Given the description of an element on the screen output the (x, y) to click on. 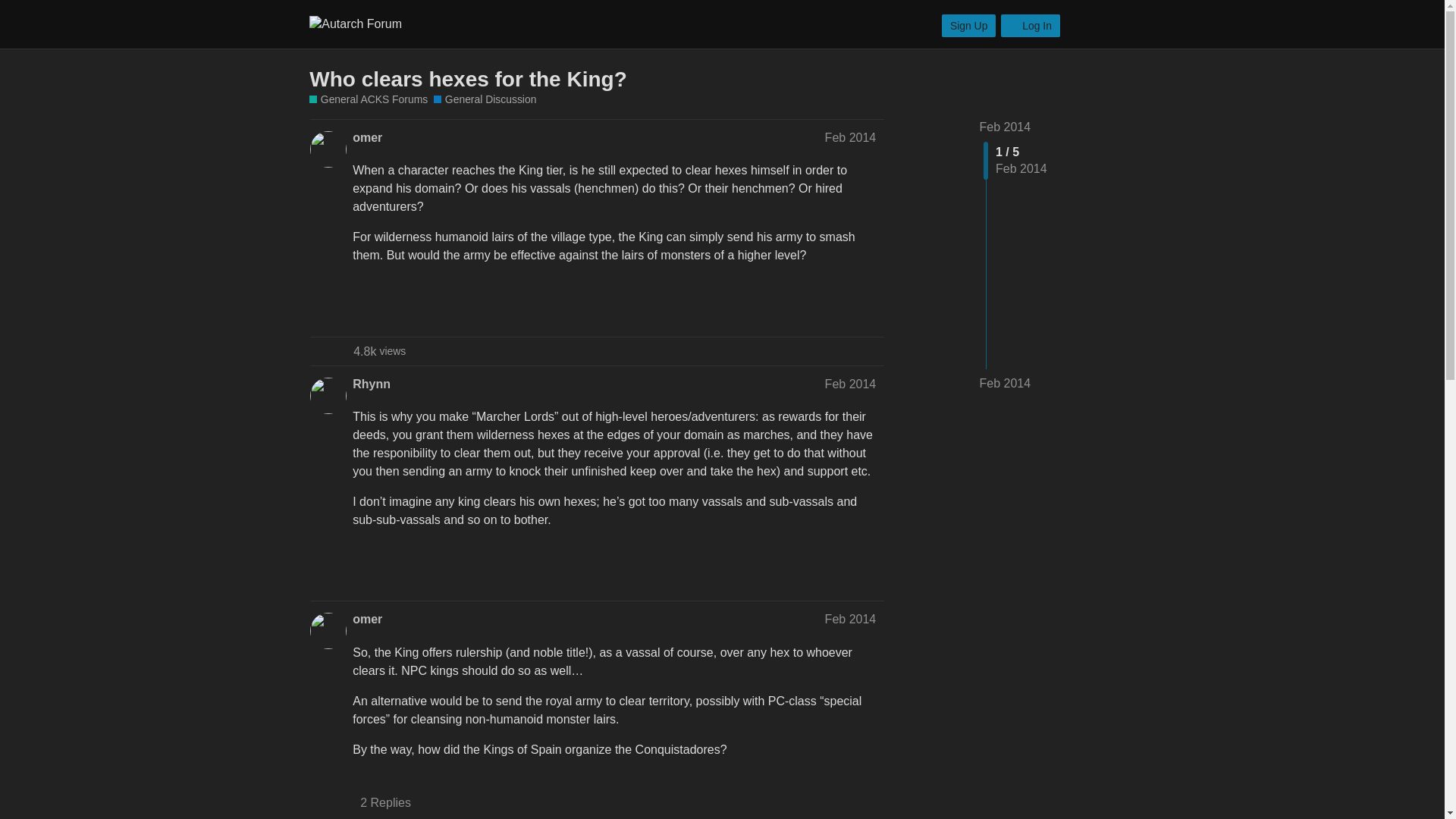
Sign Up (968, 25)
Jump to the first post (1004, 126)
copy a link to this post to clipboard (869, 307)
Jump to the last post (1004, 382)
Post date (850, 383)
Feb 2014 (850, 137)
Rhynn (371, 384)
omer (366, 619)
Feb 2014 (850, 383)
Who clears hexes for the King? (467, 78)
